Given the description of an element on the screen output the (x, y) to click on. 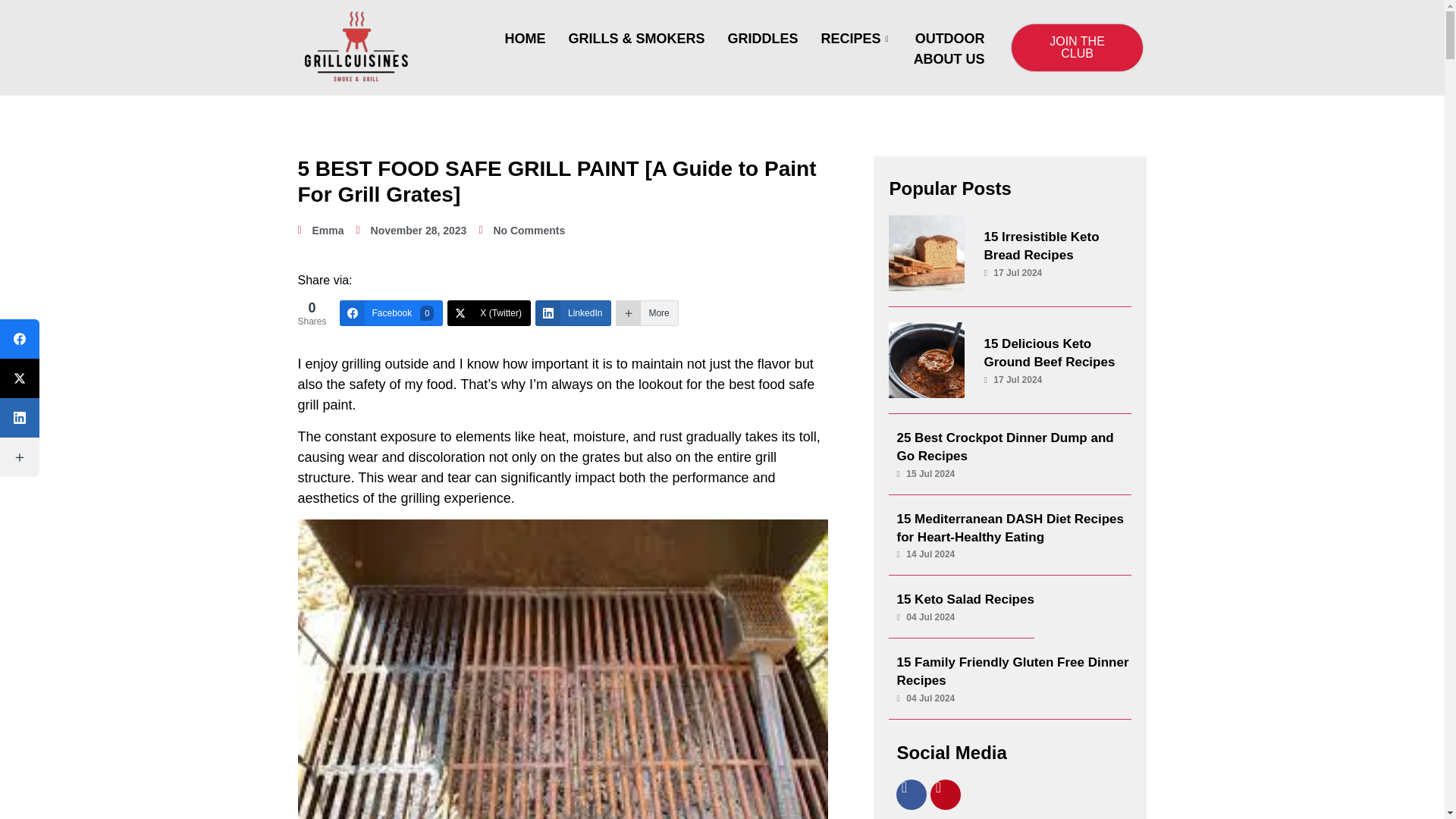
No Comments (521, 230)
JOIN THE CLUB (1076, 47)
LinkedIn (573, 312)
OUTDOOR (949, 38)
Emma (320, 230)
RECIPES (856, 38)
GRIDDLES (762, 38)
ABOUT US (948, 59)
HOME (525, 38)
November 28, 2023 (411, 230)
More (391, 312)
